Given the description of an element on the screen output the (x, y) to click on. 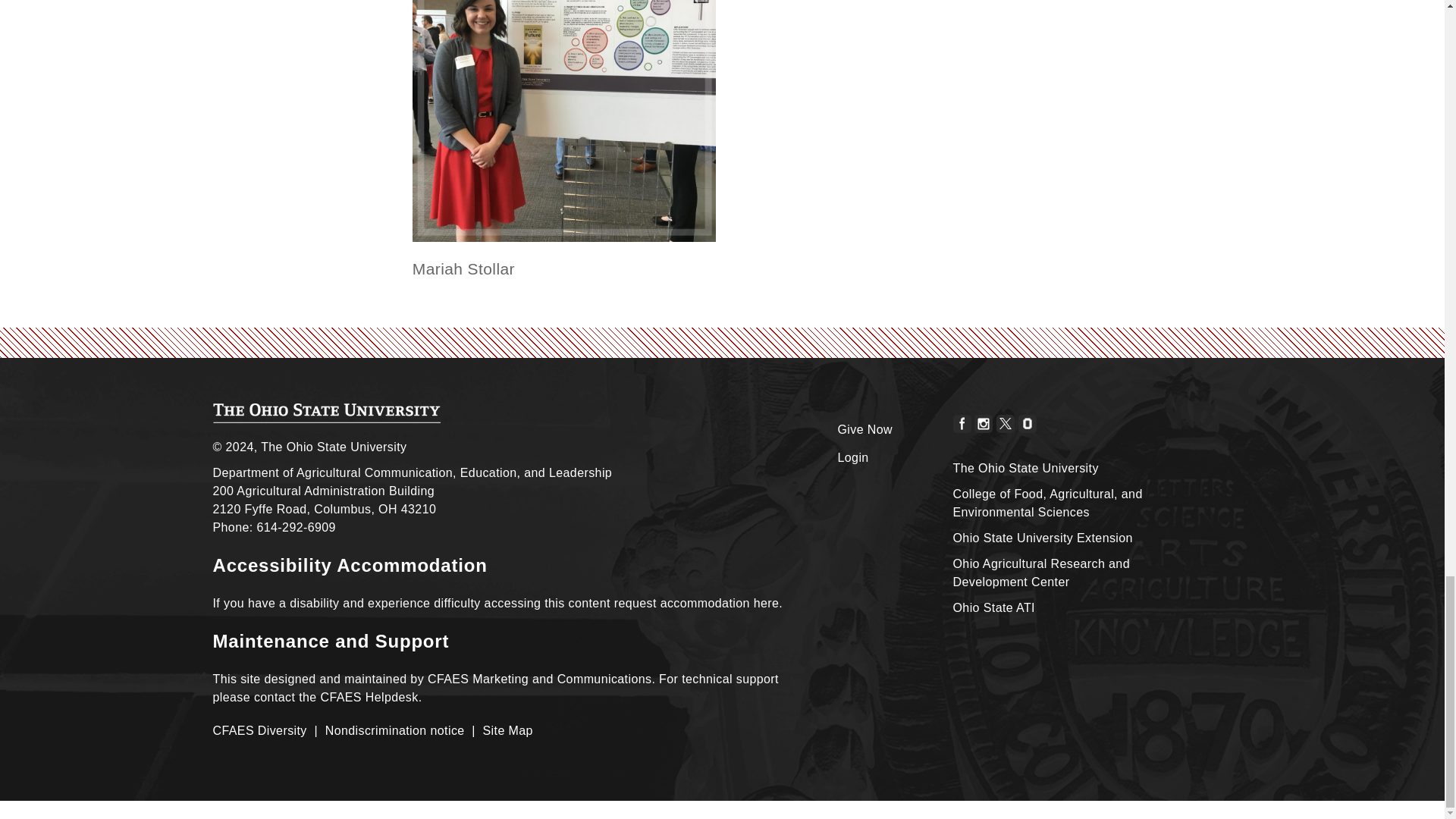
Mariah Stollar (564, 120)
CFAES Home (325, 413)
